Given the description of an element on the screen output the (x, y) to click on. 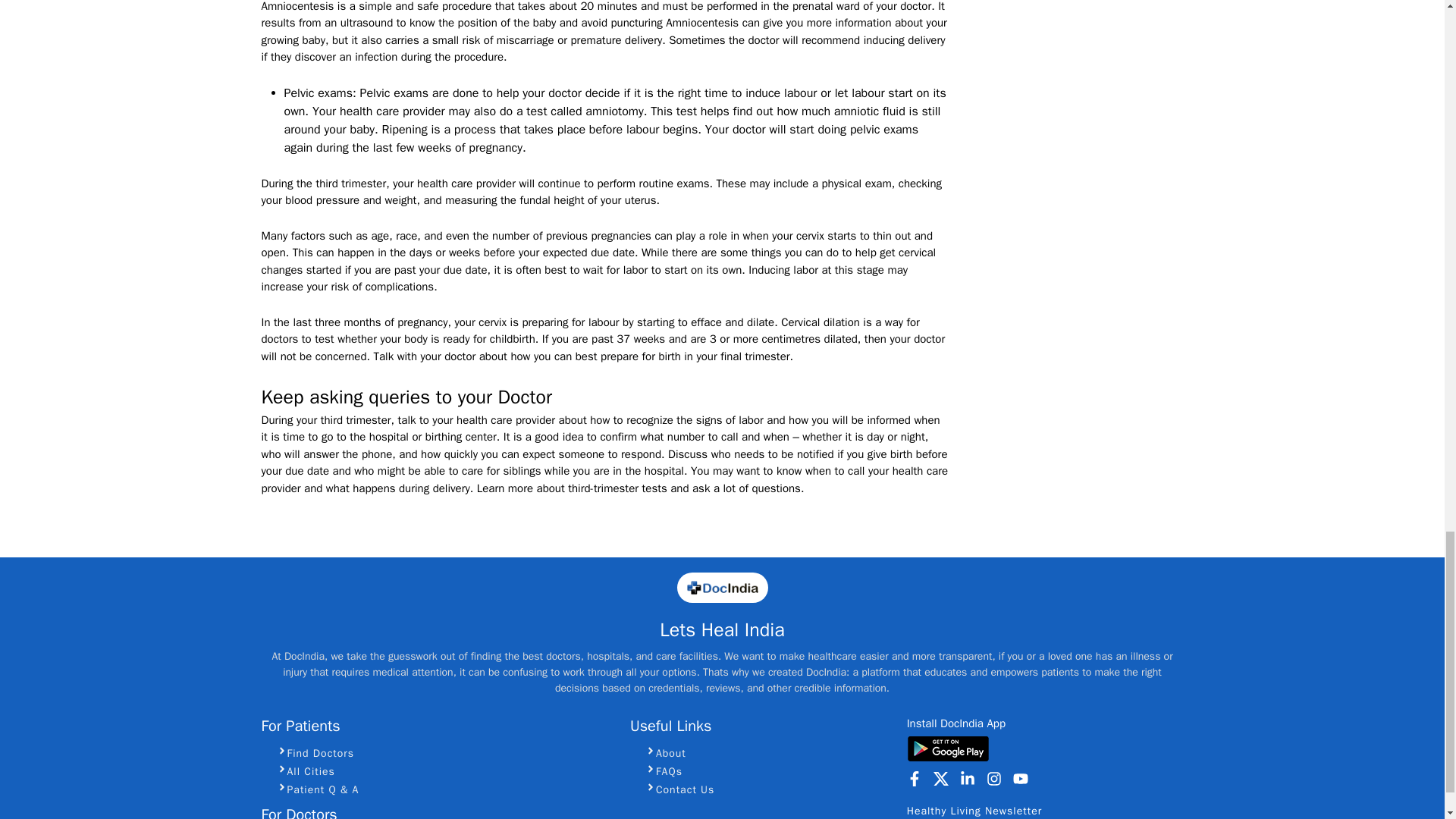
Youtube (1020, 778)
About (768, 752)
All Cities (444, 770)
Find Doctors (444, 752)
Facebook (914, 778)
Contact Us (768, 788)
Instagram (994, 778)
Twitter (941, 778)
FAQs (768, 770)
Linkedin (967, 778)
